Given the description of an element on the screen output the (x, y) to click on. 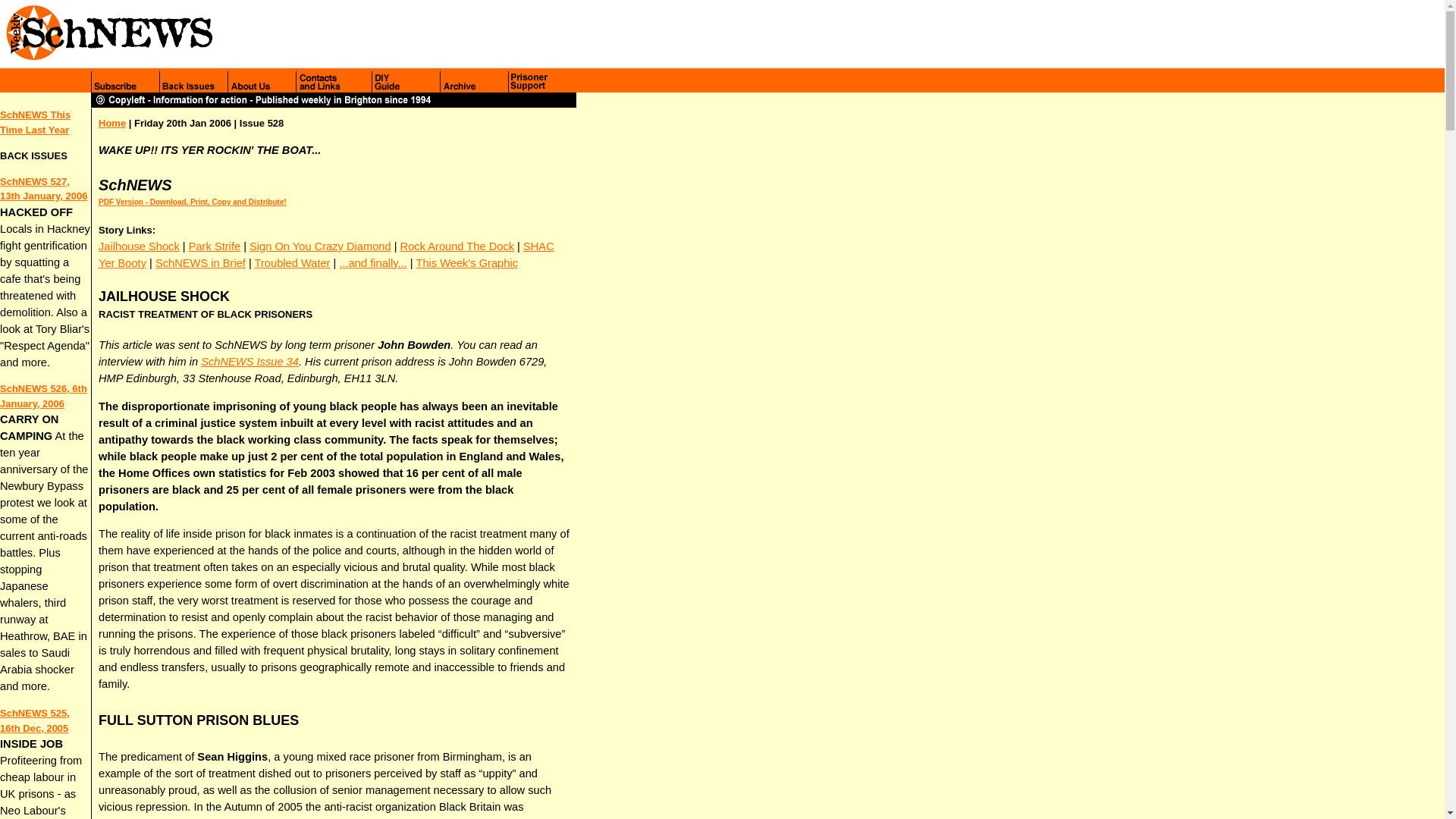
This Week's Graphic (465, 263)
PDF Version - Download, Print, Copy and Distribute! (192, 201)
Home (112, 122)
...and finally... (372, 263)
SchNEWS 525, 16th Dec, 2005 (34, 720)
Rock Around The Dock (456, 246)
Park Strife (214, 246)
SchNEWS 526, 6th January, 2006 (43, 396)
Sign On You Crazy Diamond (319, 246)
SchNEWS This Time Last Year (34, 121)
SchNEWS 527, 13th January, 2006 (43, 189)
SHAC Yer Booty (326, 254)
SchNEWS in Brief (200, 263)
Troubled Water (292, 263)
Jailhouse Shock (139, 246)
